Given the description of an element on the screen output the (x, y) to click on. 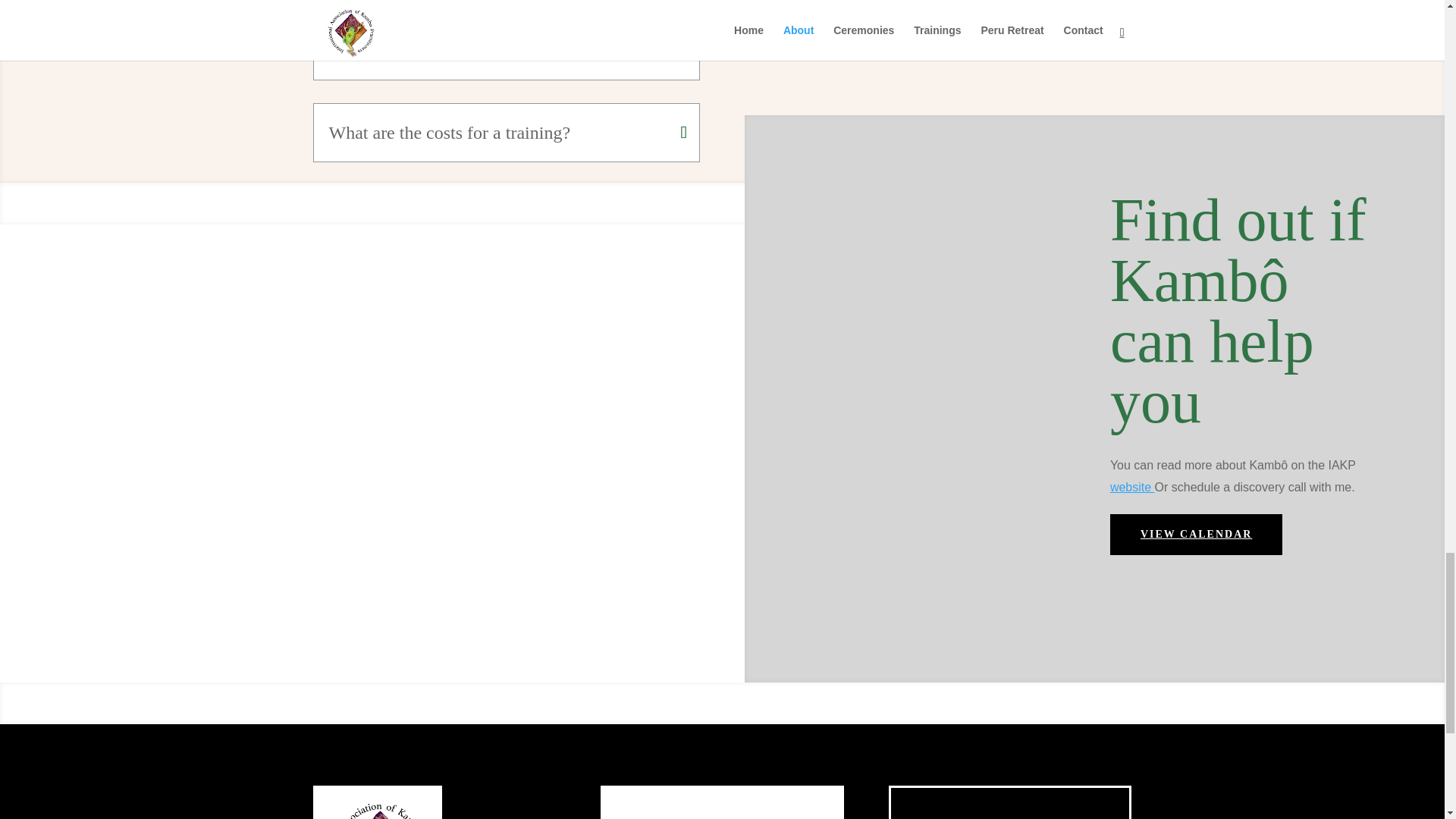
website (1131, 486)
PNG image - Kambo Holistic (377, 802)
IAKP (1131, 486)
VIEW CALENDAR (1195, 534)
